Given the description of an element on the screen output the (x, y) to click on. 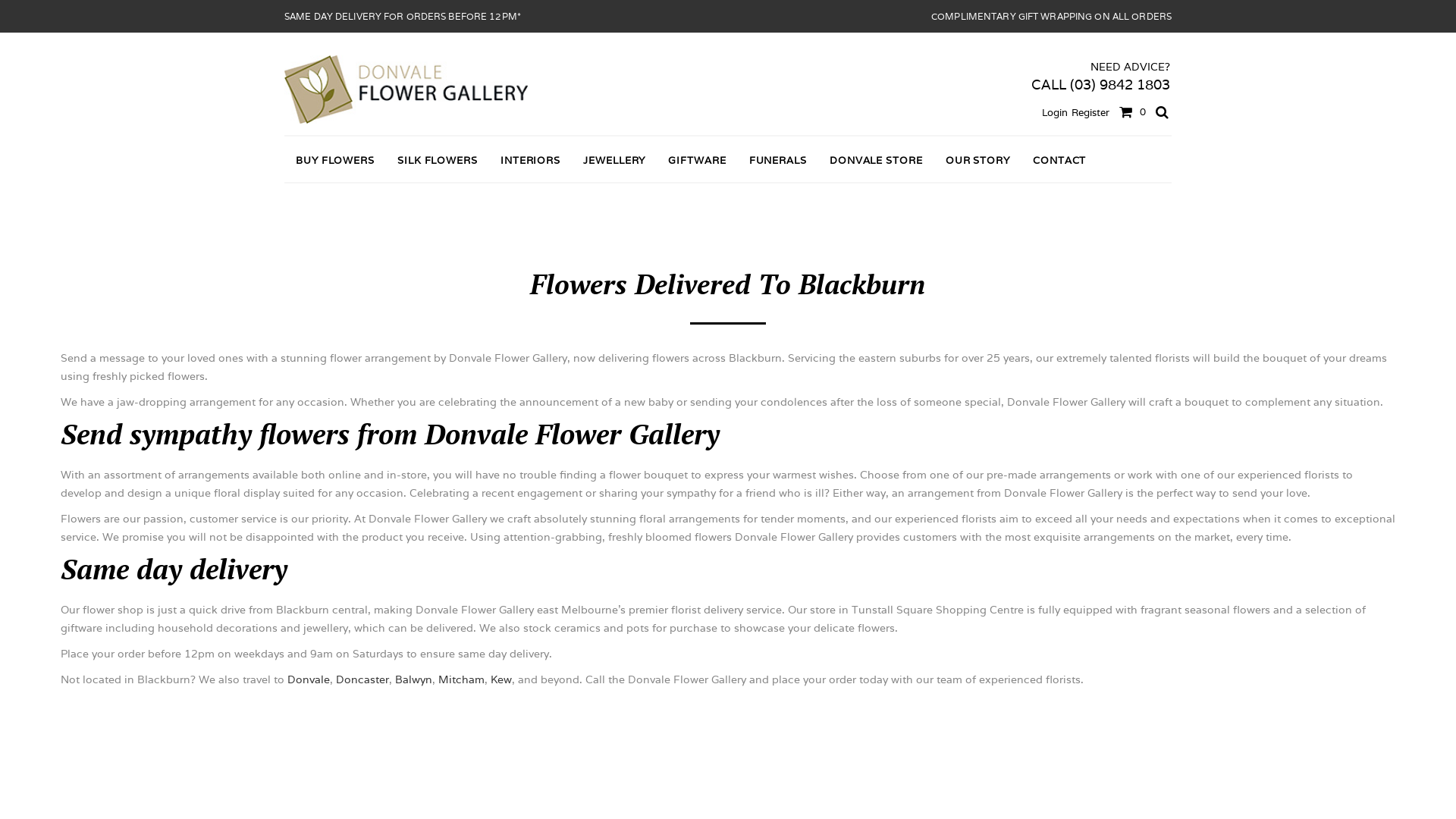
Doncaster Element type: text (362, 679)
DONVALE STORE Element type: text (876, 159)
Balwyn Element type: text (413, 679)
BUY FLOWERS Element type: text (334, 159)
INTERIORS Element type: text (530, 159)
Kew Element type: text (500, 679)
JEWELLERY Element type: text (613, 159)
Mitcham Element type: text (461, 679)
GIFTWARE Element type: text (696, 159)
OUR STORY Element type: text (977, 159)
CONTACT Element type: text (1059, 159)
FUNERALS Element type: text (777, 159)
Order and Purchase Flowers Online in Melbourne Element type: hover (405, 89)
Register Element type: text (1090, 112)
0 Element type: text (1129, 111)
SILK FLOWERS Element type: text (437, 159)
Login Element type: text (1054, 112)
Donvale Element type: text (308, 679)
